Given the description of an element on the screen output the (x, y) to click on. 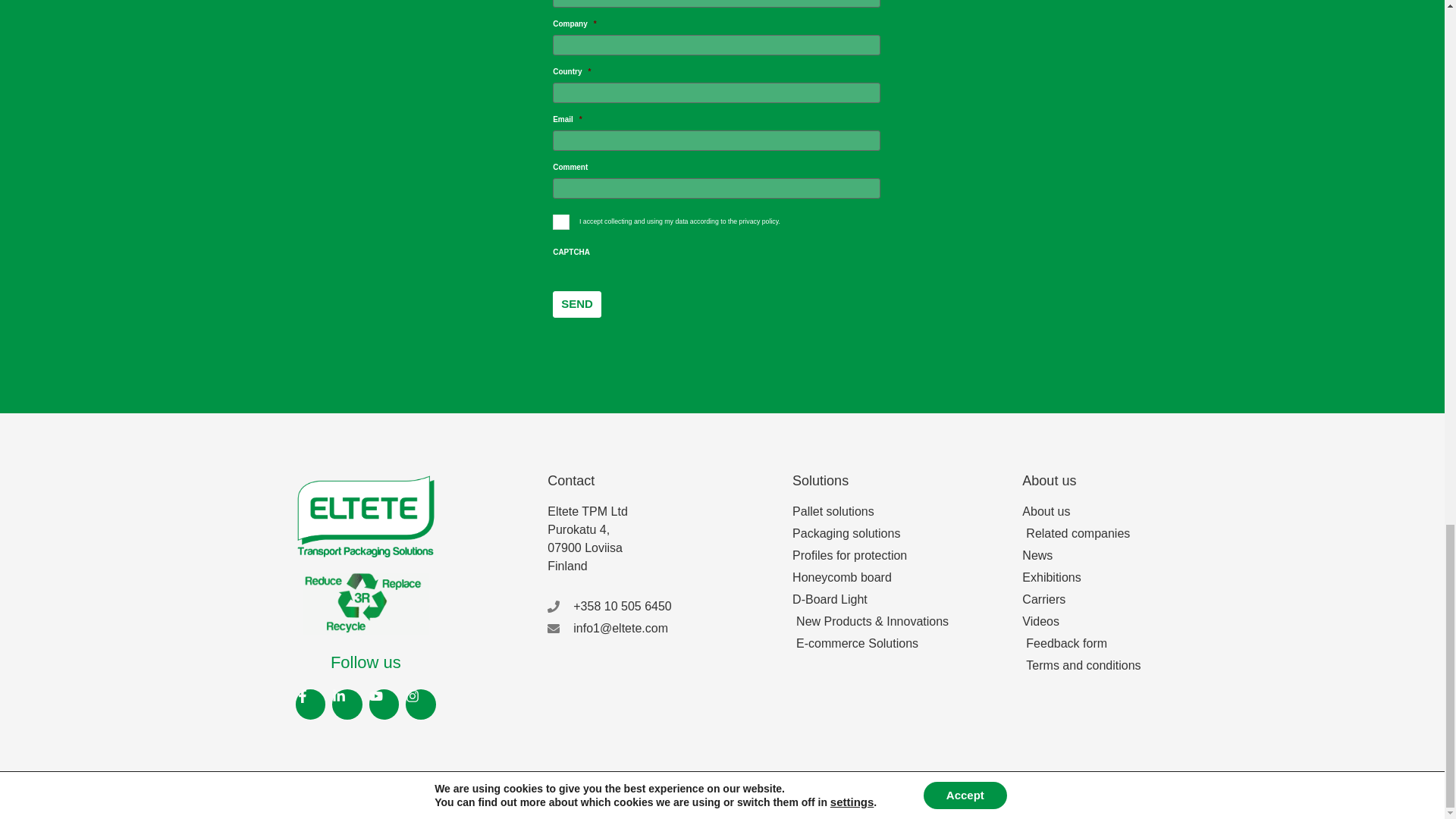
Send (577, 304)
